Given the description of an element on the screen output the (x, y) to click on. 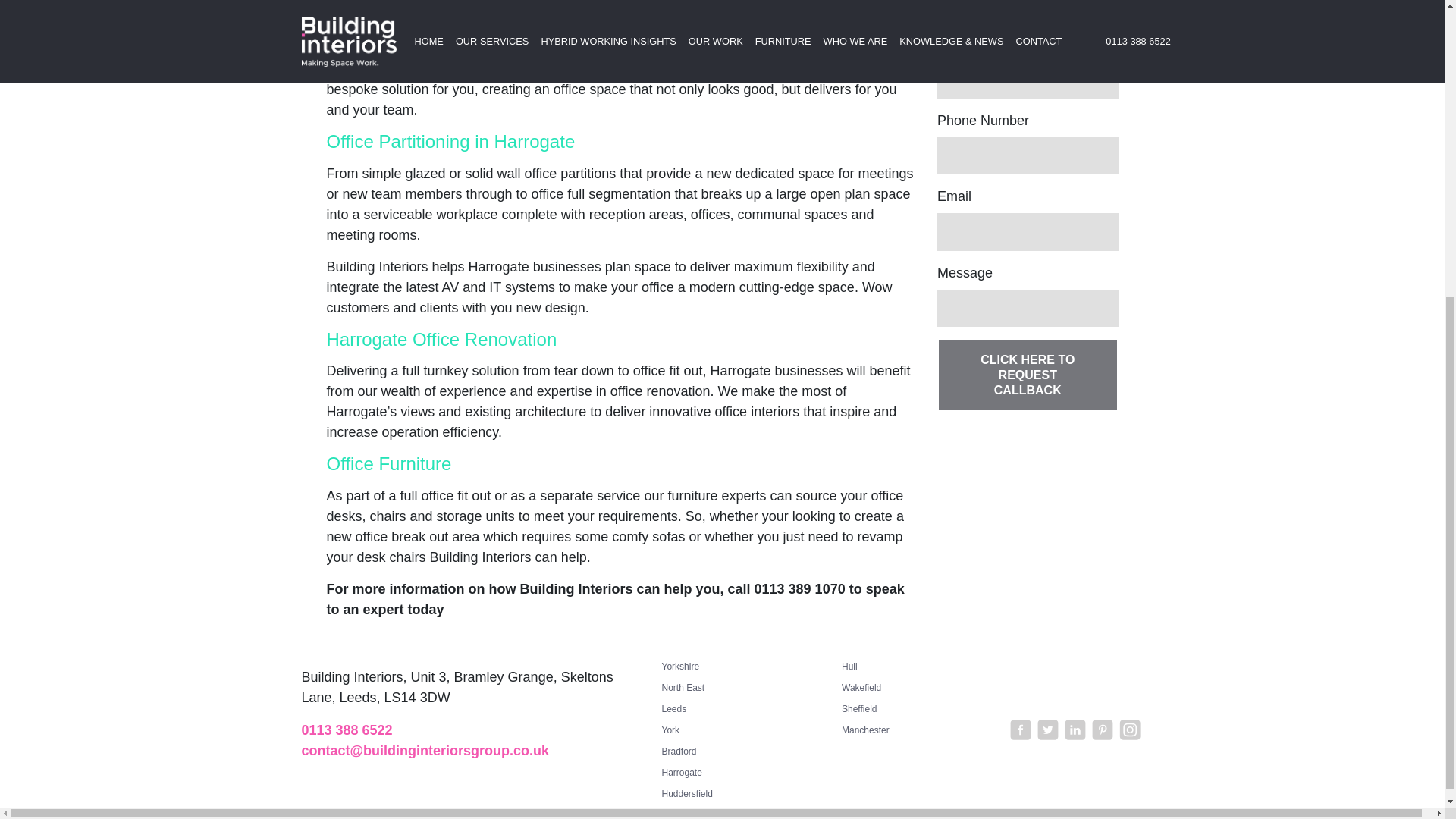
North East (682, 687)
Yorkshire (679, 665)
Click Here to Request Callback (1027, 375)
York (670, 729)
Click Here to Request Callback (1027, 375)
0113 388 6522 (347, 729)
Leeds (673, 708)
Bradford (678, 751)
